Given the description of an element on the screen output the (x, y) to click on. 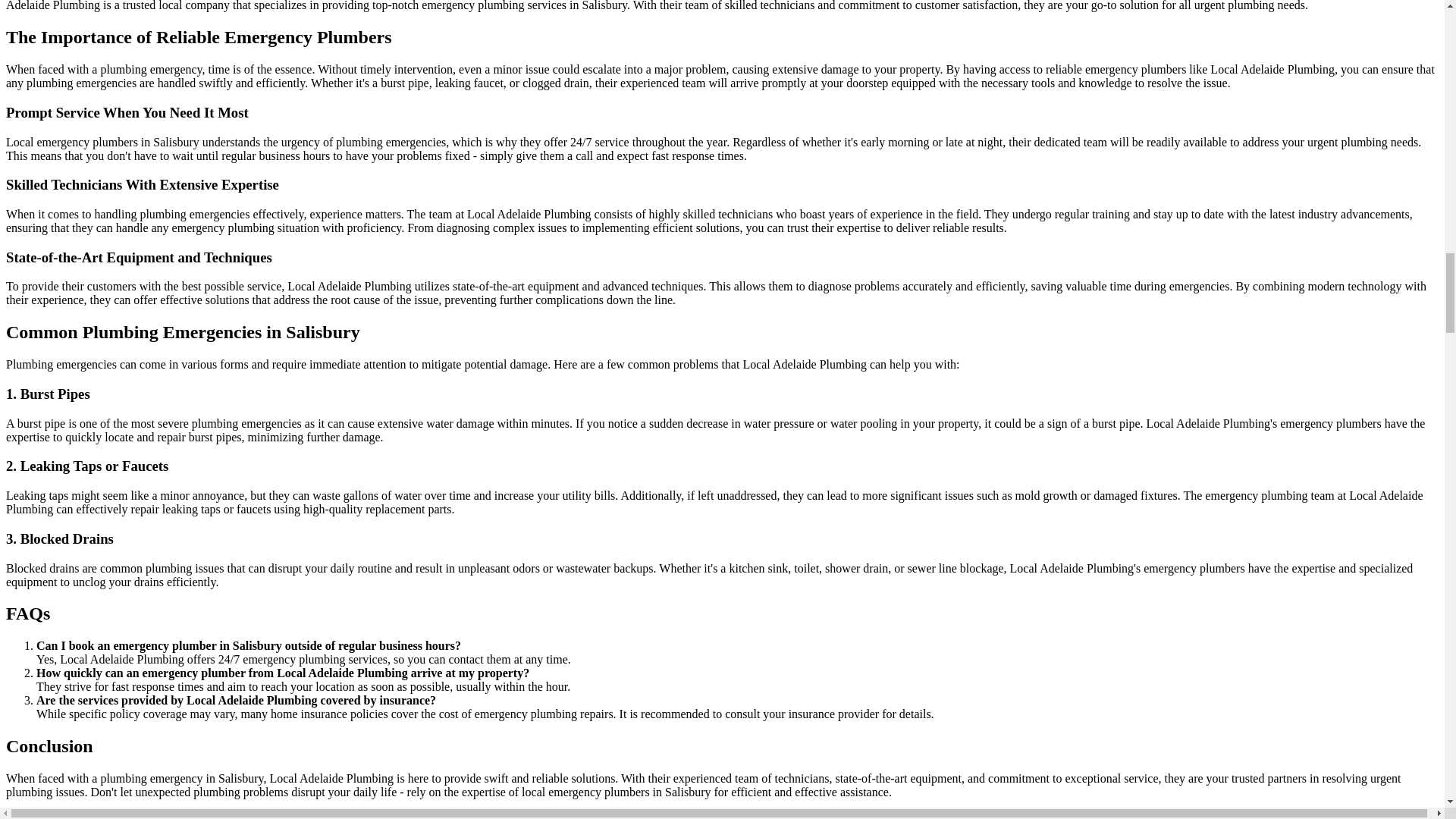
localadelaideplumbing.com.au (248, 815)
